Given the description of an element on the screen output the (x, y) to click on. 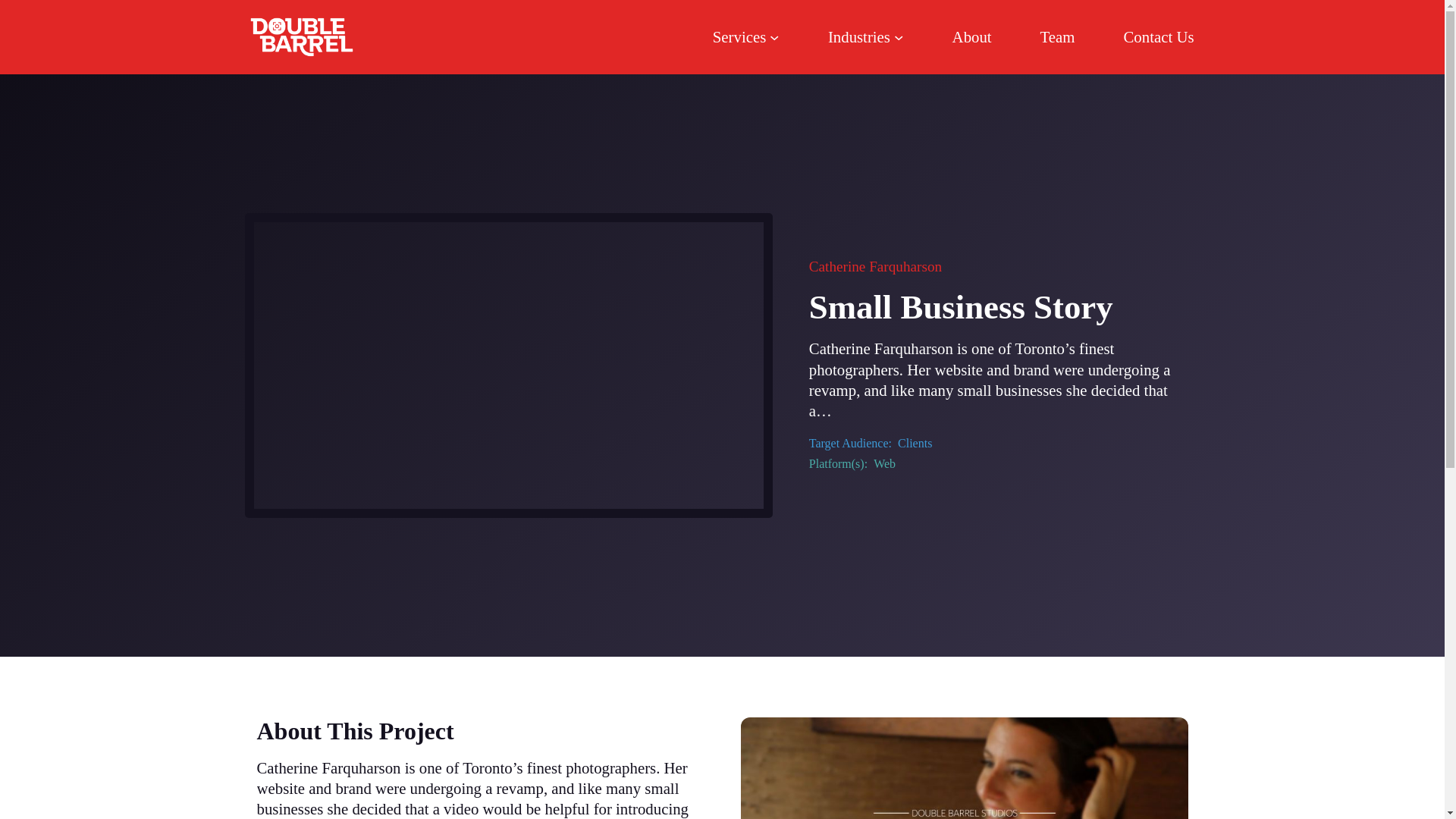
Services (745, 36)
About (971, 36)
Contact Us (1158, 36)
Industries (866, 36)
Team (1058, 36)
Catherine Farquharson (875, 266)
